Given the description of an element on the screen output the (x, y) to click on. 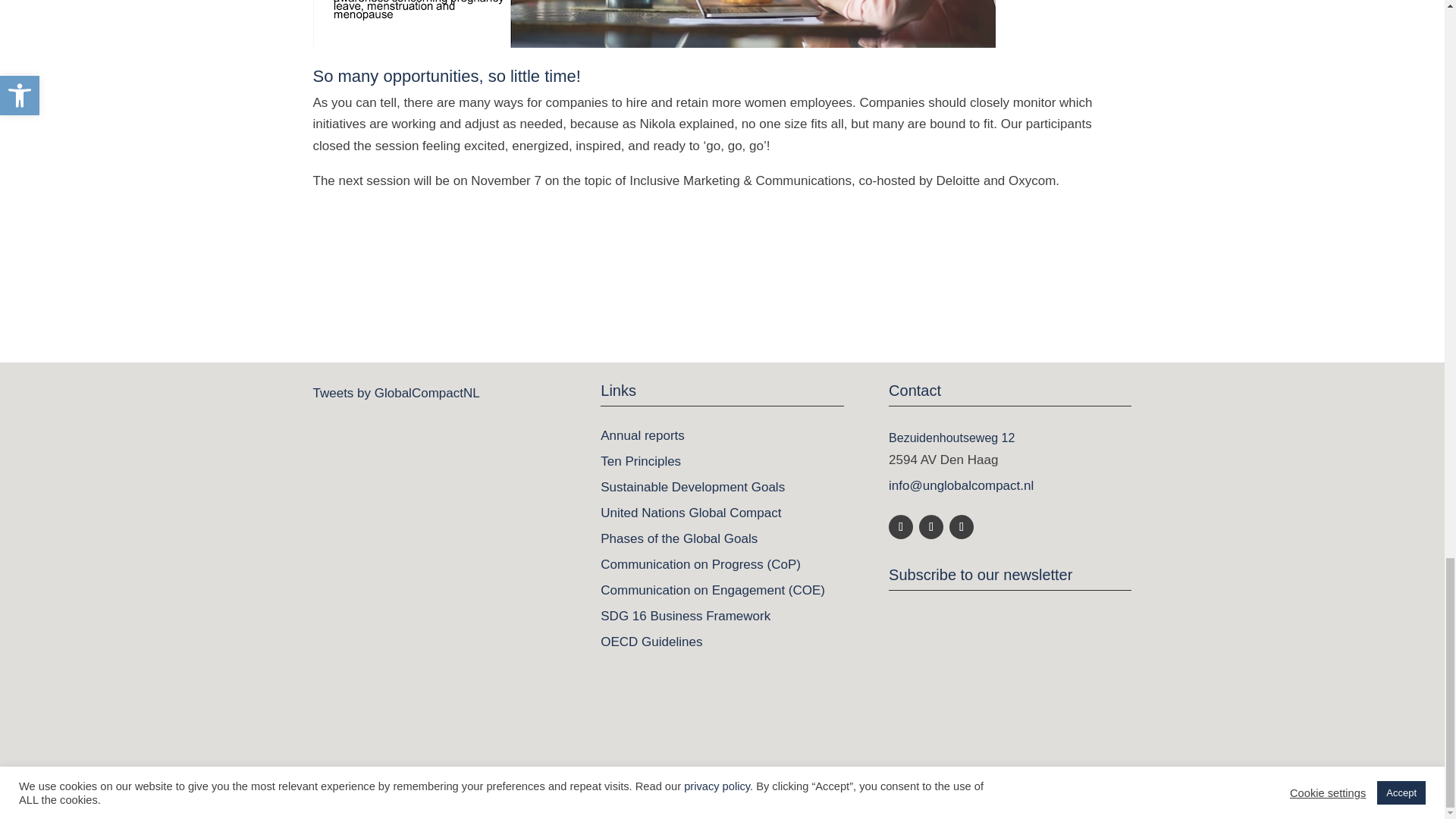
Follow on Instagram (961, 526)
Gender blog GCNL - Retention (653, 23)
Follow on X (930, 526)
Follow on LinkedIn (900, 526)
